Given the description of an element on the screen output the (x, y) to click on. 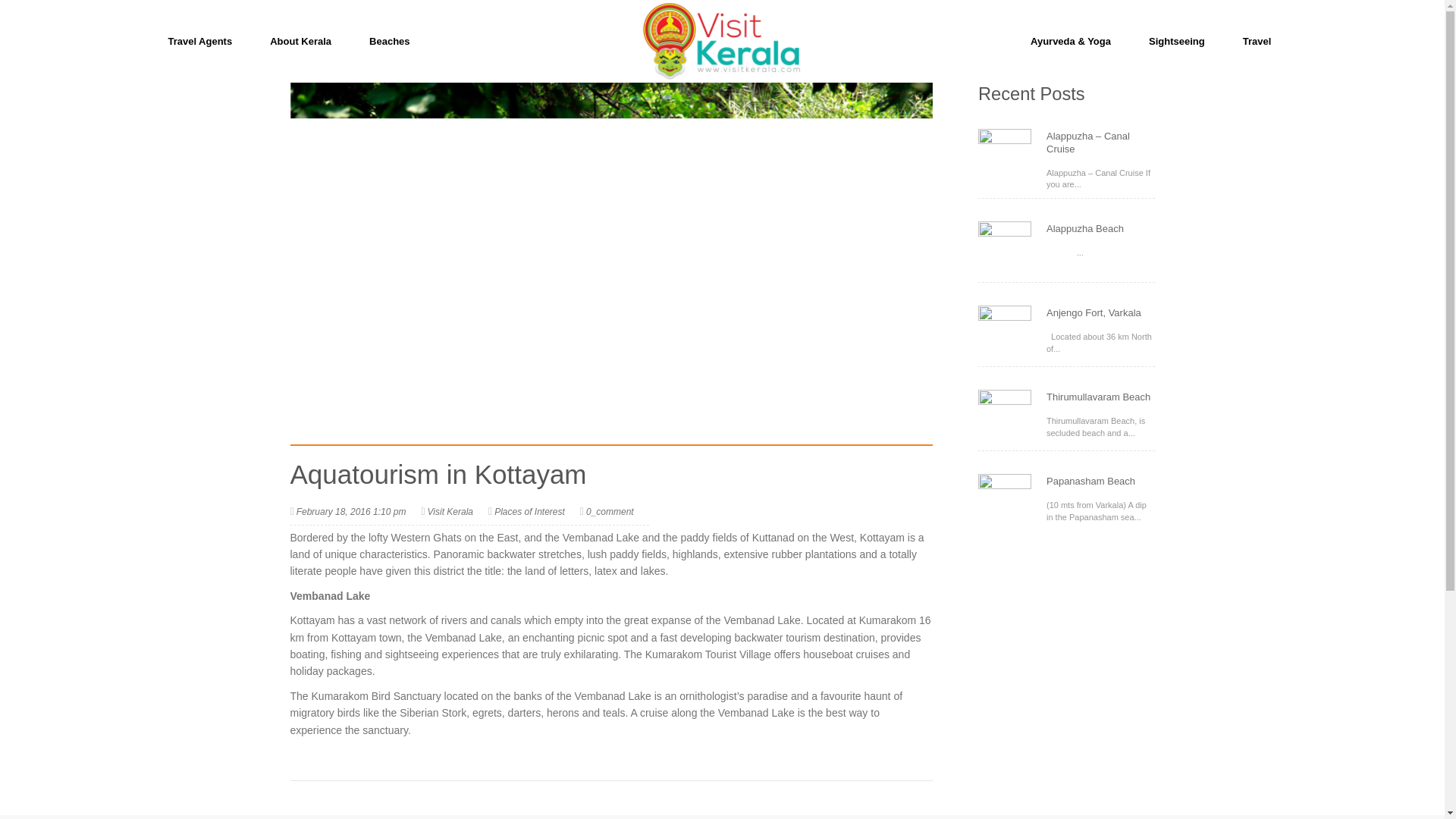
About Kerala (300, 40)
Travel Agents (199, 40)
Travel (1257, 40)
Sightseeing (1176, 40)
Beaches (389, 40)
